Given the description of an element on the screen output the (x, y) to click on. 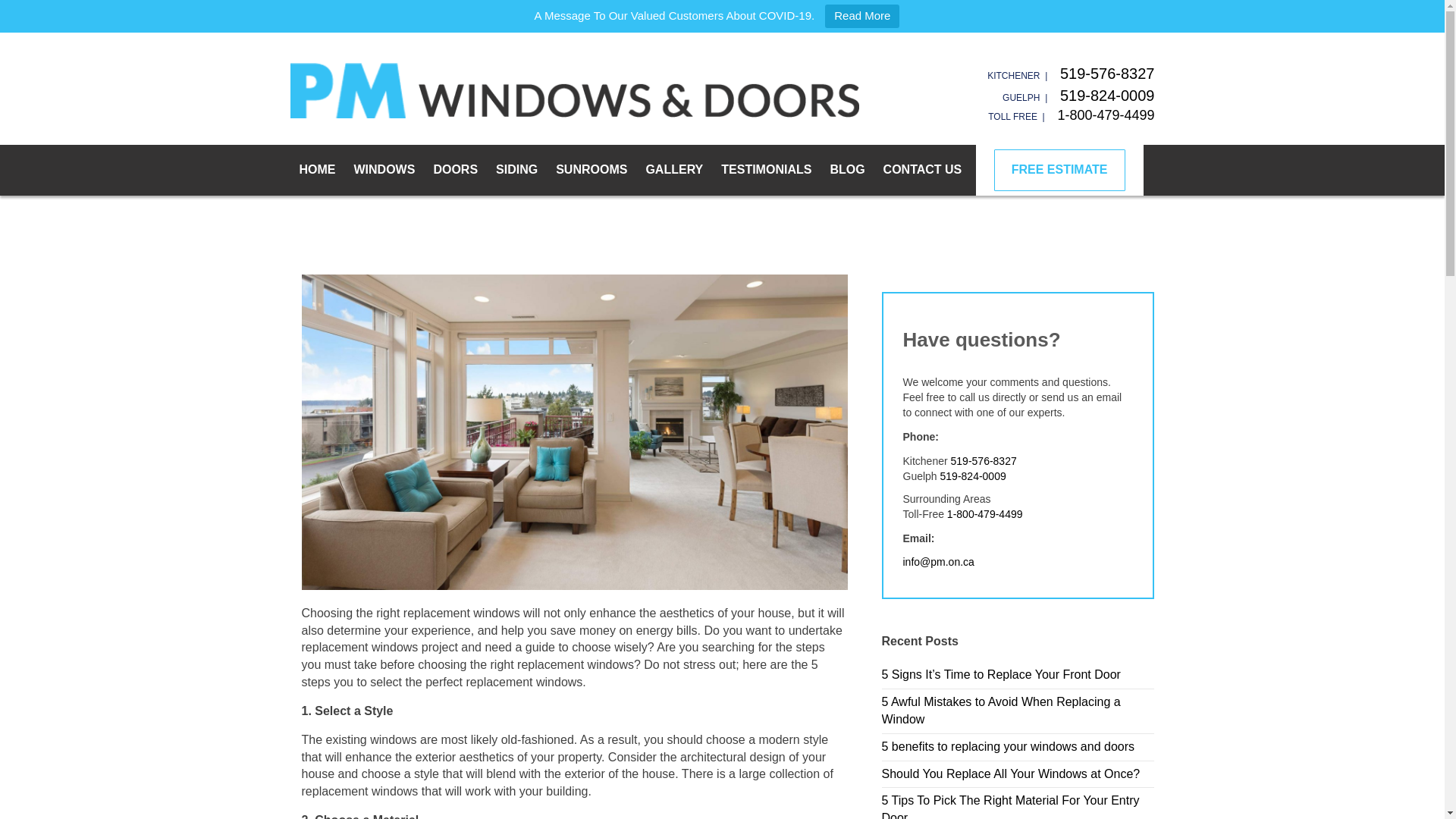
Read More (862, 15)
1-800-479-4499 (1105, 114)
519-824-0009 (1106, 95)
519-576-8327 (1106, 73)
SIDING (516, 169)
WINDOWS (383, 169)
HOME (316, 169)
DOORS (454, 169)
